Given the description of an element on the screen output the (x, y) to click on. 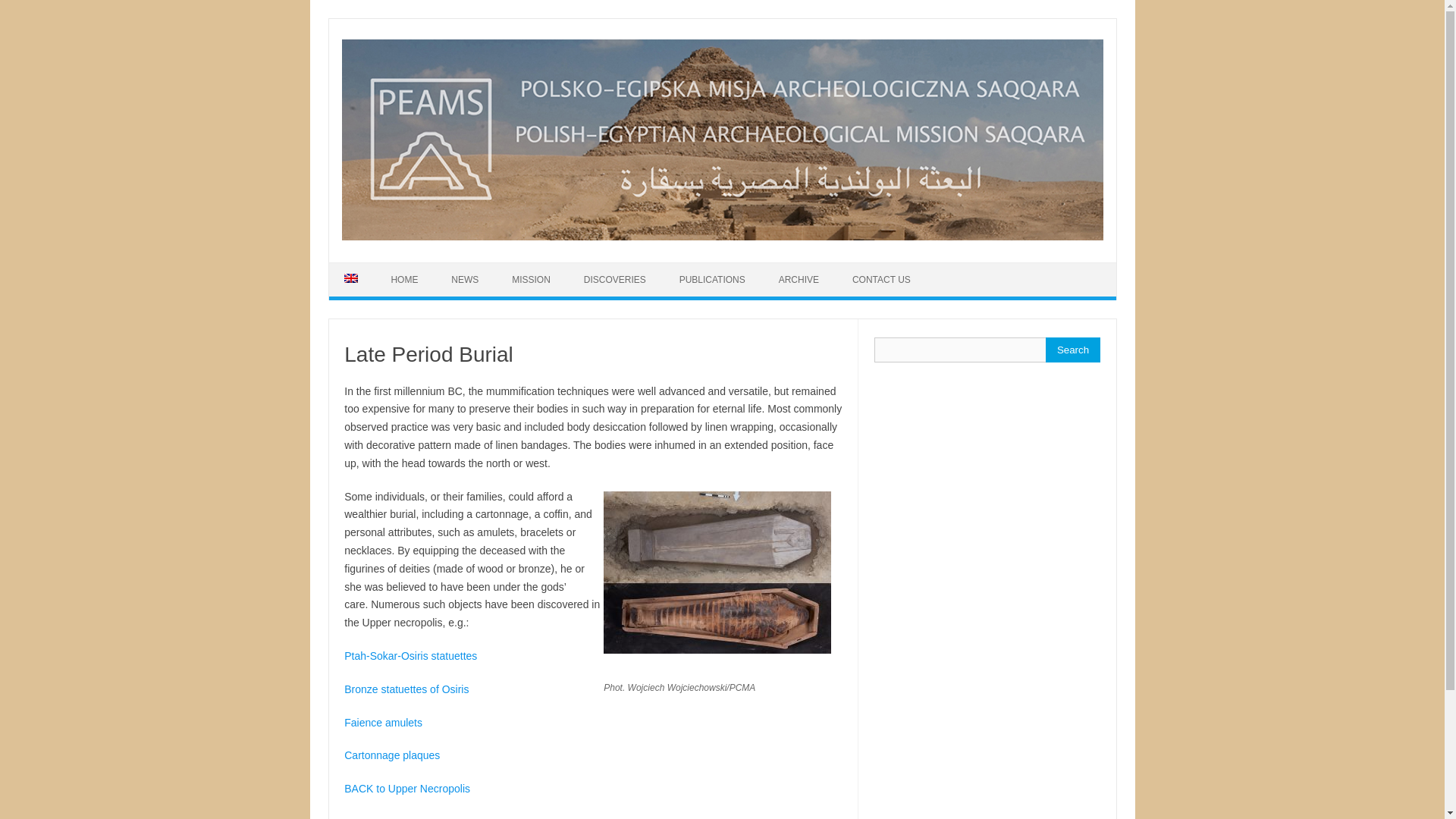
NEWS (464, 279)
CONTACT US (881, 279)
ARCHIVE (798, 279)
Faience amulets (382, 722)
Ptah-Sokar-Osiris statuettes (410, 655)
Skip to content (363, 267)
Skip to content (363, 267)
Polish-Egyptian Archaeological Mission Saqqara (721, 236)
Bronze statuettes of Osiris (405, 689)
HOME (403, 279)
